Given the description of an element on the screen output the (x, y) to click on. 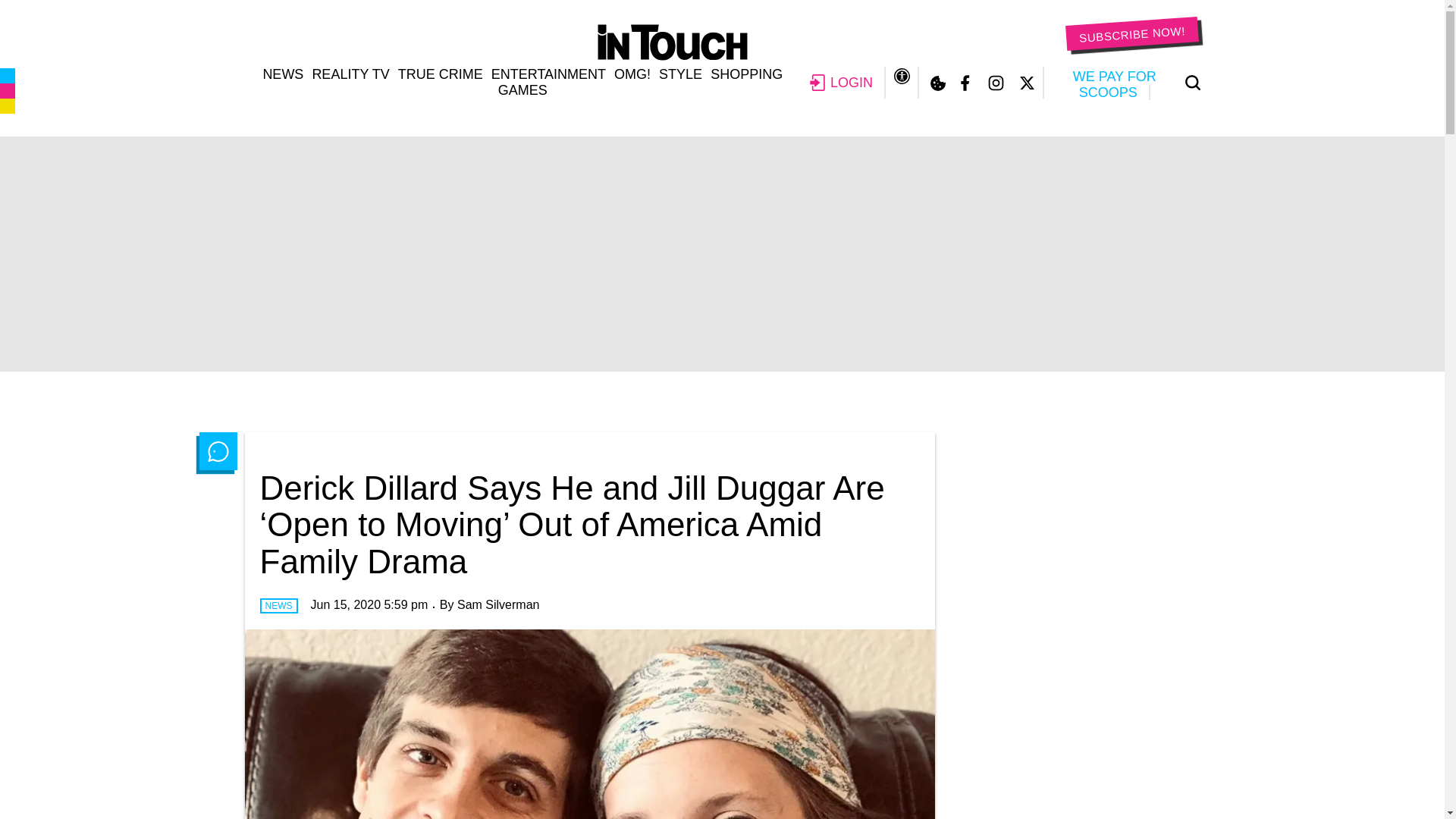
Posts by Sam Silverman (497, 604)
REALITY TV (349, 73)
NEWS (282, 73)
TRUE CRIME (440, 73)
